Given the description of an element on the screen output the (x, y) to click on. 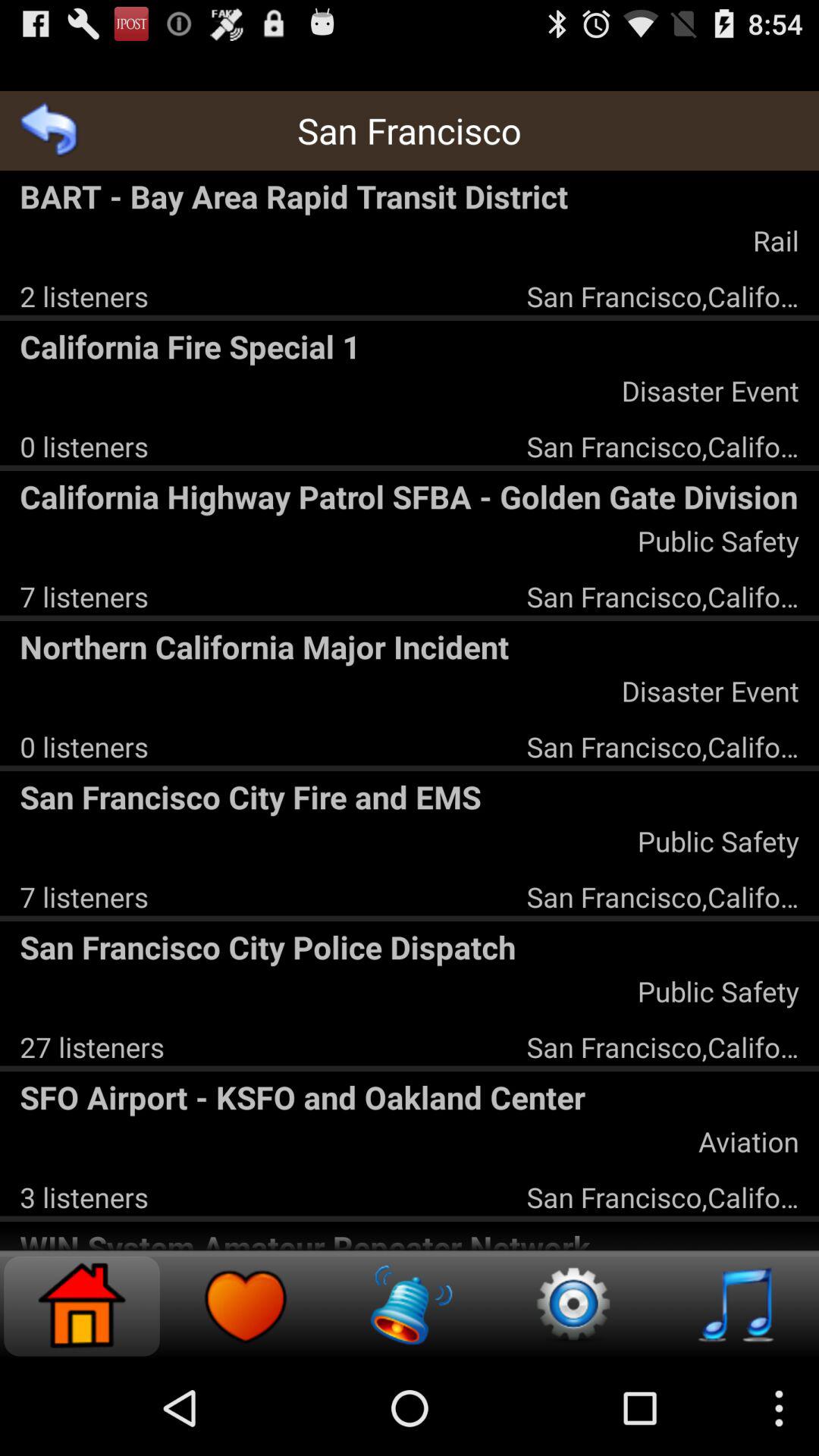
select the rail icon (776, 240)
